Given the description of an element on the screen output the (x, y) to click on. 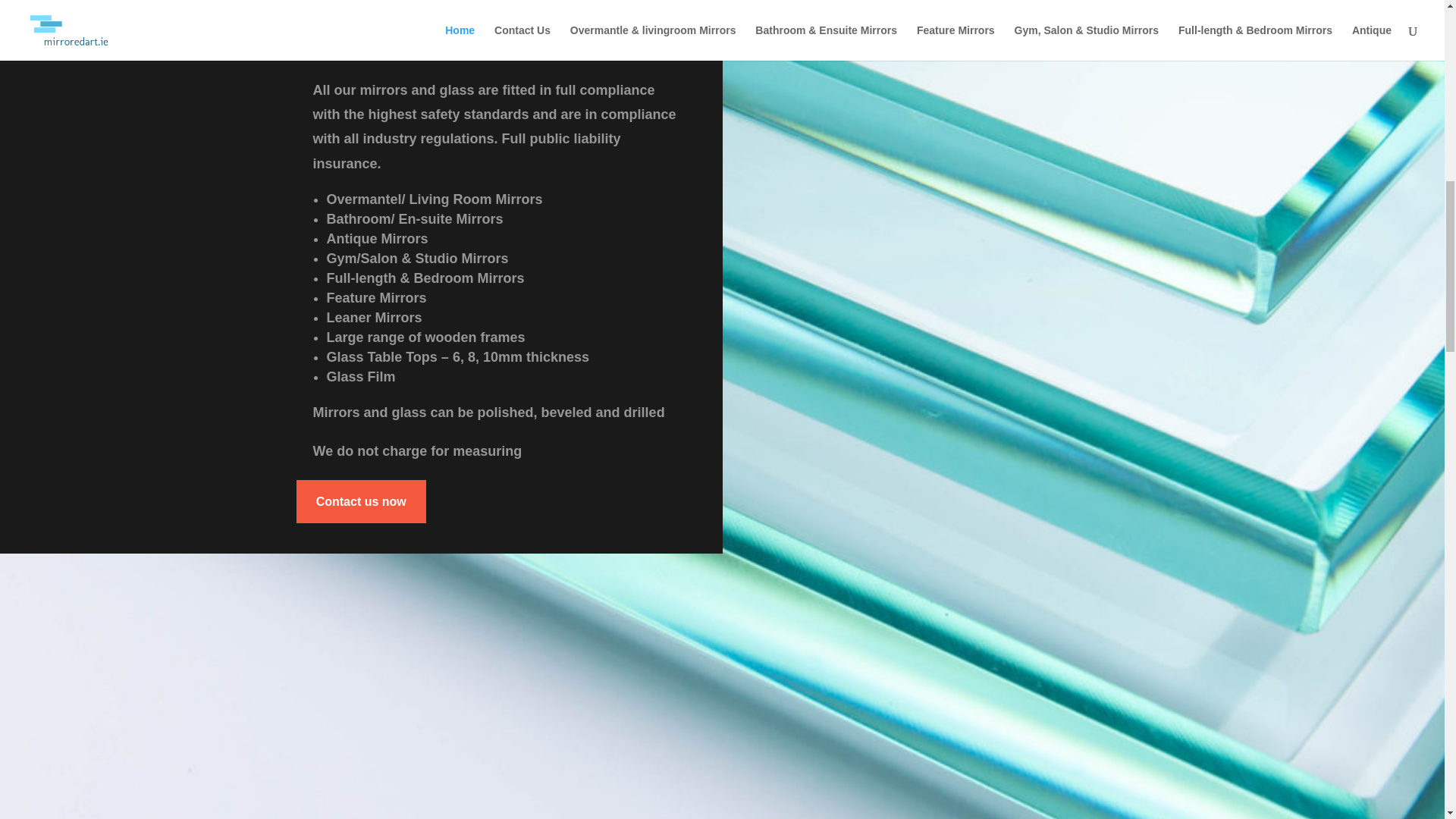
Contact us now (361, 501)
